Given the description of an element on the screen output the (x, y) to click on. 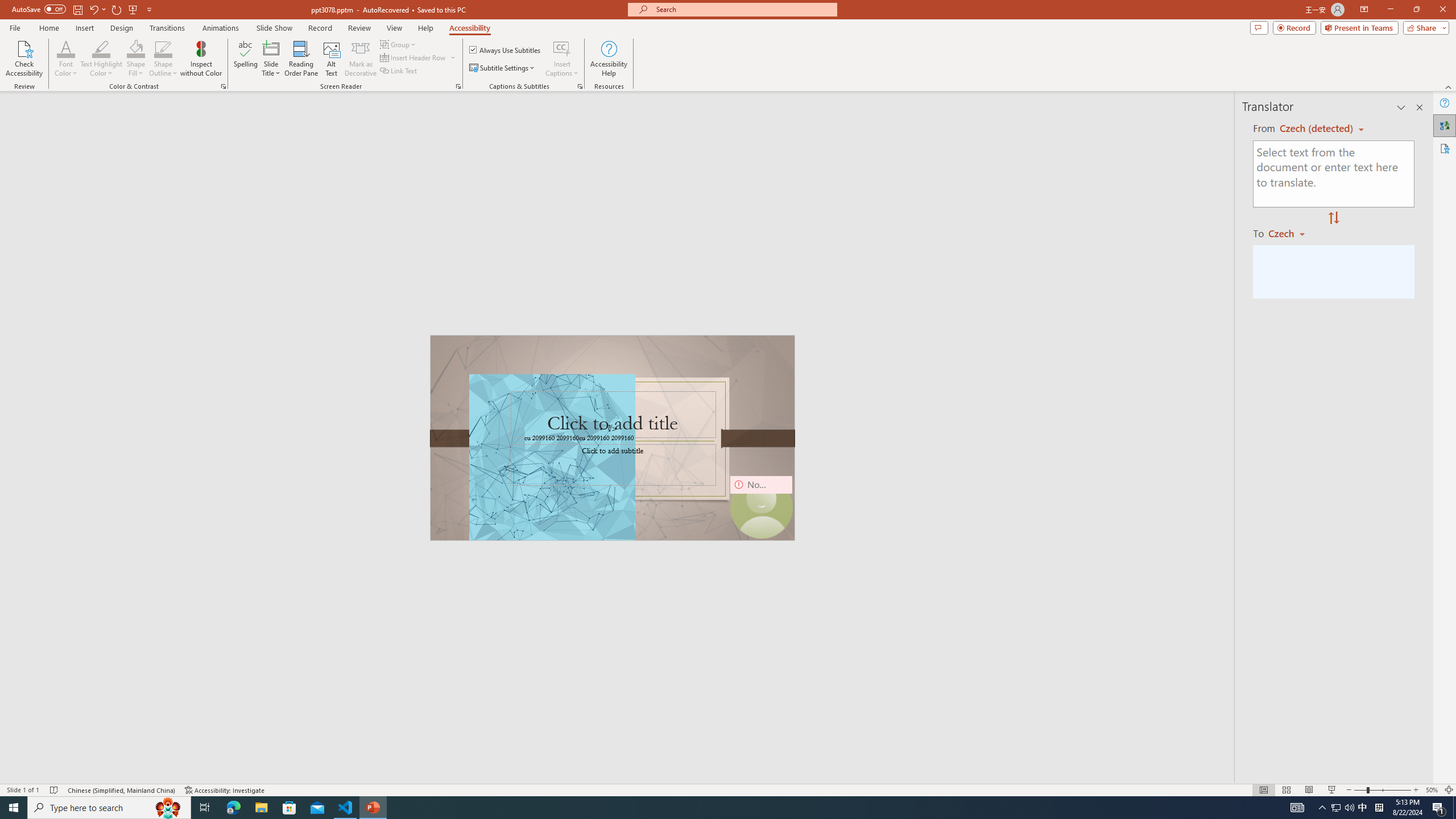
Screen Reader (458, 85)
